Given the description of an element on the screen output the (x, y) to click on. 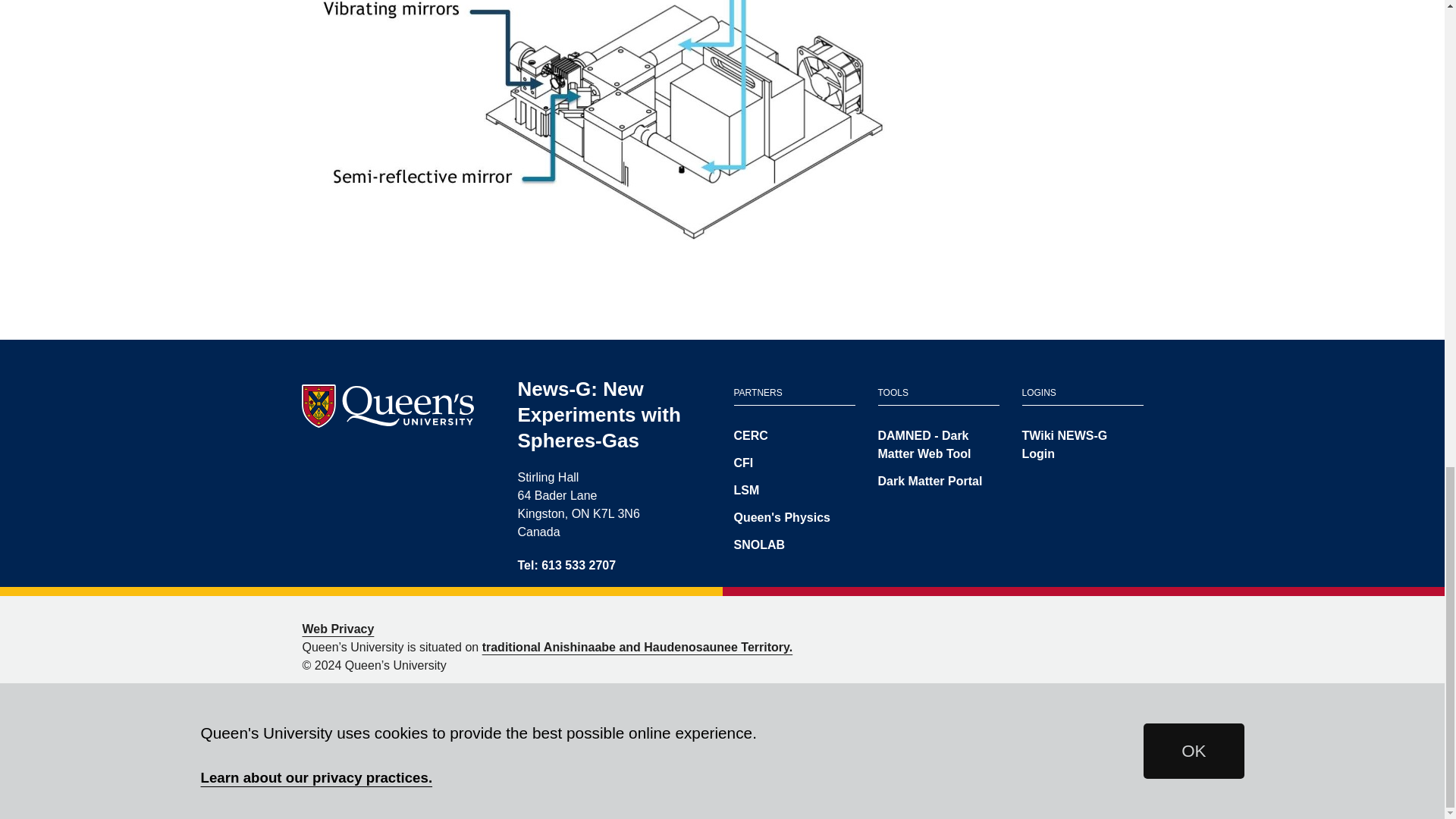
Canada Foundation for Innovation (794, 463)
Canada Excellence Research Chair (794, 435)
Laboratoire Souterrain de Modane (794, 490)
